Given the description of an element on the screen output the (x, y) to click on. 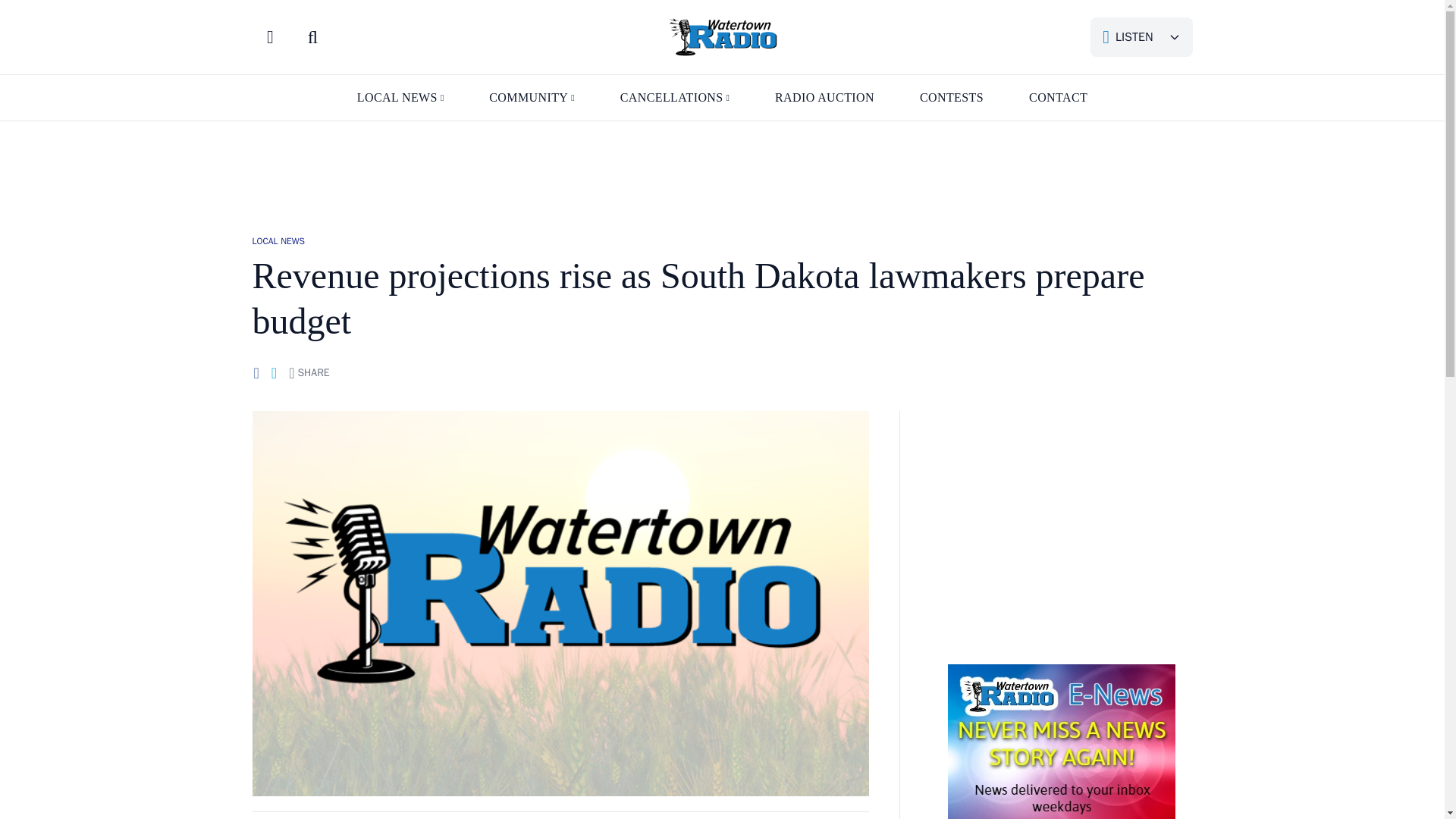
3rd party ad content (1060, 520)
3rd party ad content (721, 170)
